Given the description of an element on the screen output the (x, y) to click on. 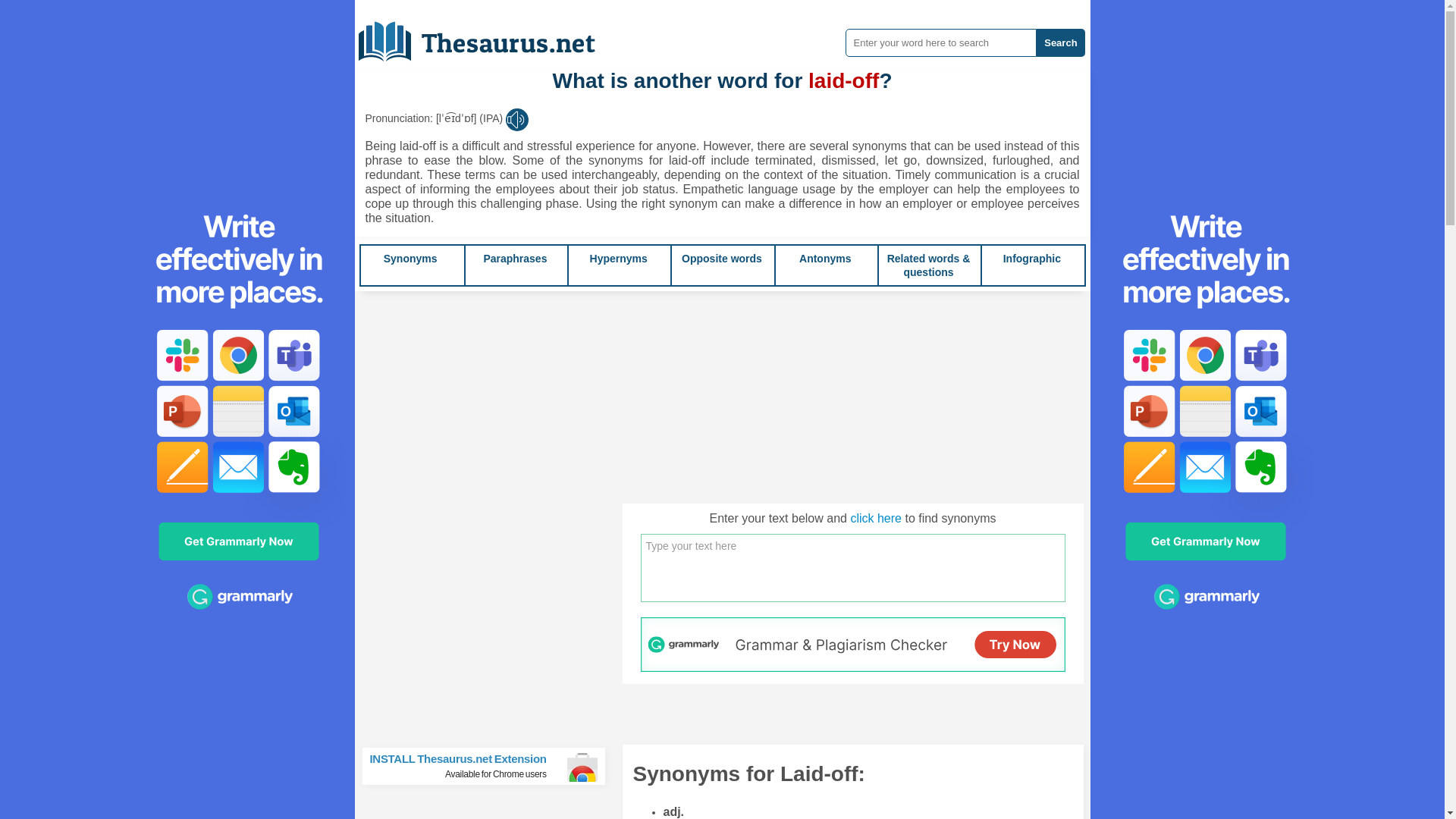
Antonyms (489, 765)
Thesaurus.net (824, 258)
Synonyms (487, 35)
click here (411, 258)
Opposite words (875, 517)
Paraphrases (721, 258)
Hypernyms (515, 258)
Infographic (618, 258)
Synonyms (1032, 258)
Antonyms (411, 258)
Opposite words (824, 258)
Paraphrases (721, 258)
Search (515, 258)
Infographic (1060, 42)
